Given the description of an element on the screen output the (x, y) to click on. 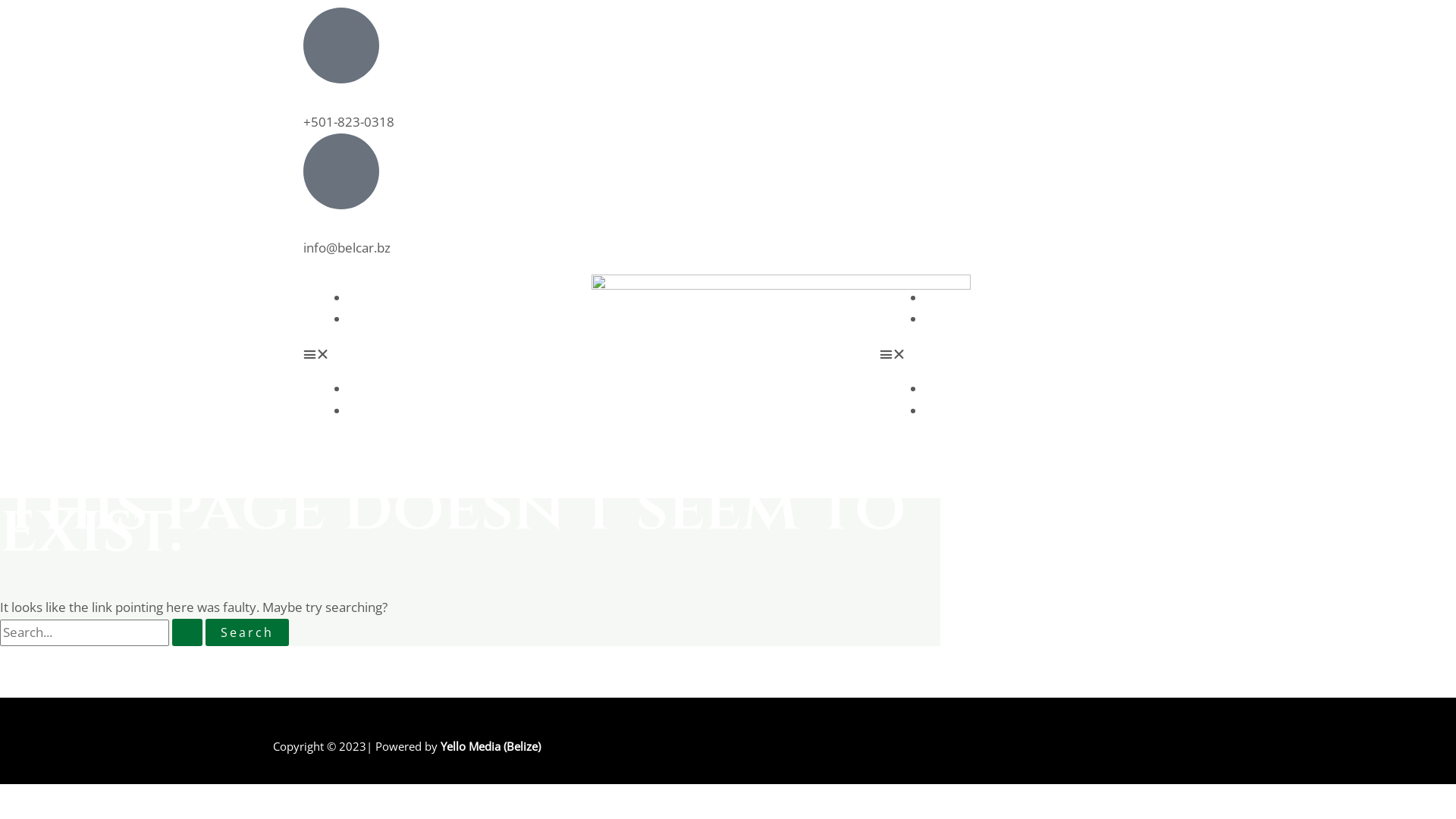
Search Element type: text (246, 632)
About Element type: text (366, 318)
About Element type: text (366, 410)
Product Element type: text (948, 388)
Contact Element type: text (947, 318)
Home Element type: text (366, 297)
Yello Media (Belize) Element type: text (490, 745)
Contact Element type: text (947, 410)
Home Element type: text (366, 388)
Product Element type: text (948, 297)
